Given the description of an element on the screen output the (x, y) to click on. 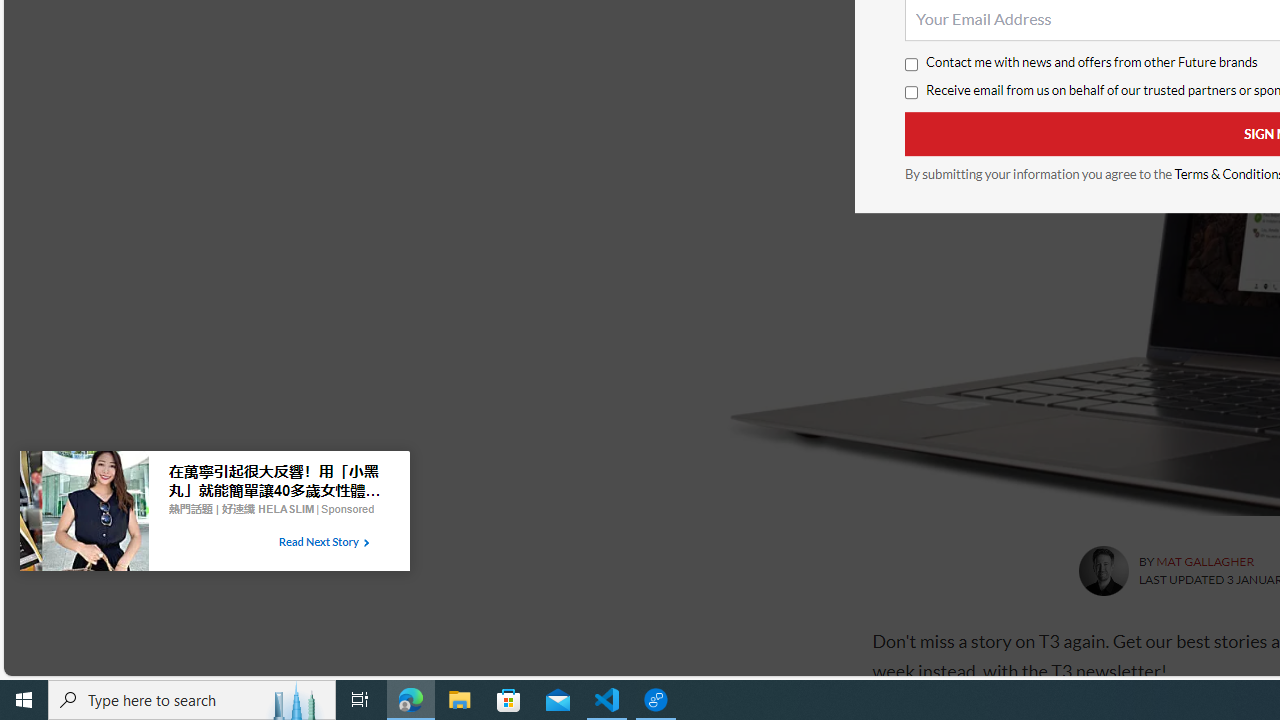
Branding in Taboola advertising section (240, 509)
Class: tbl-arrow-icon arrow-2 (366, 543)
MAT GALLAGHER (1204, 561)
Mat Gallagher (1102, 570)
Image for Taboola Advertising Unit (84, 515)
Sponsored (348, 508)
Contact me with news and offers from other Future brands (910, 65)
Image for Taboola Advertising Unit (84, 515)
Class: tbl-arrow-icon arrow-1 (366, 543)
